Given the description of an element on the screen output the (x, y) to click on. 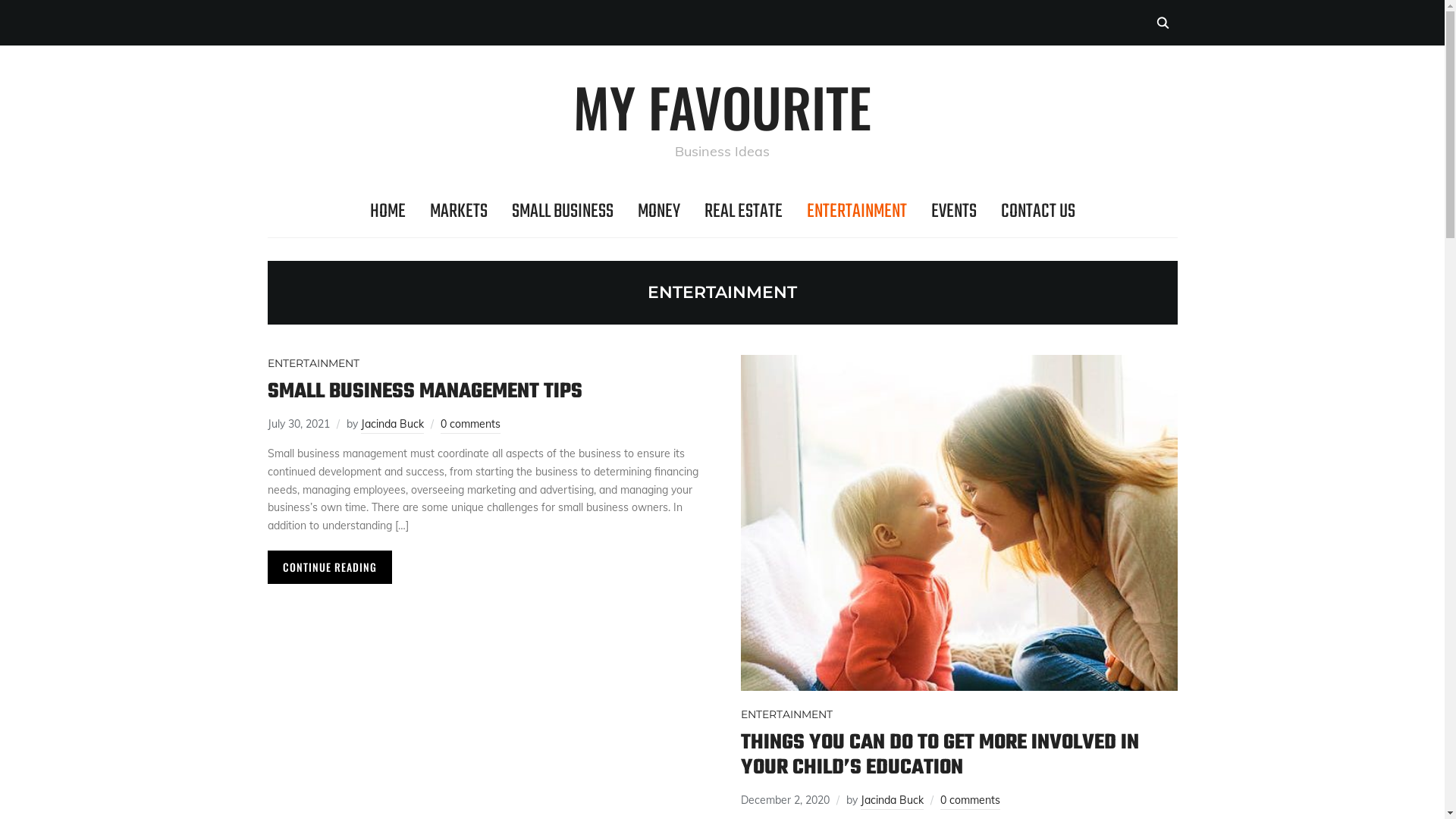
ENTERTAINMENT Element type: text (856, 212)
SMALL BUSINESS Element type: text (561, 212)
Jacinda Buck Element type: text (391, 425)
SMALL BUSINESS MANAGEMENT TIPS Element type: text (423, 391)
0 comments Element type: text (469, 425)
EVENTS Element type: text (953, 212)
MY FAVOURITE Element type: text (722, 105)
MONEY Element type: text (658, 212)
ENTERTAINMENT Element type: text (785, 715)
REAL ESTATE Element type: text (742, 212)
MARKETS Element type: text (457, 212)
0 comments Element type: text (970, 801)
HOME Element type: text (387, 212)
ENTERTAINMENT Element type: text (312, 363)
Search Element type: text (1161, 22)
CONTACT US Element type: text (1038, 212)
CONTINUE READING Element type: text (328, 566)
Jacinda Buck Element type: text (890, 801)
